Given the description of an element on the screen output the (x, y) to click on. 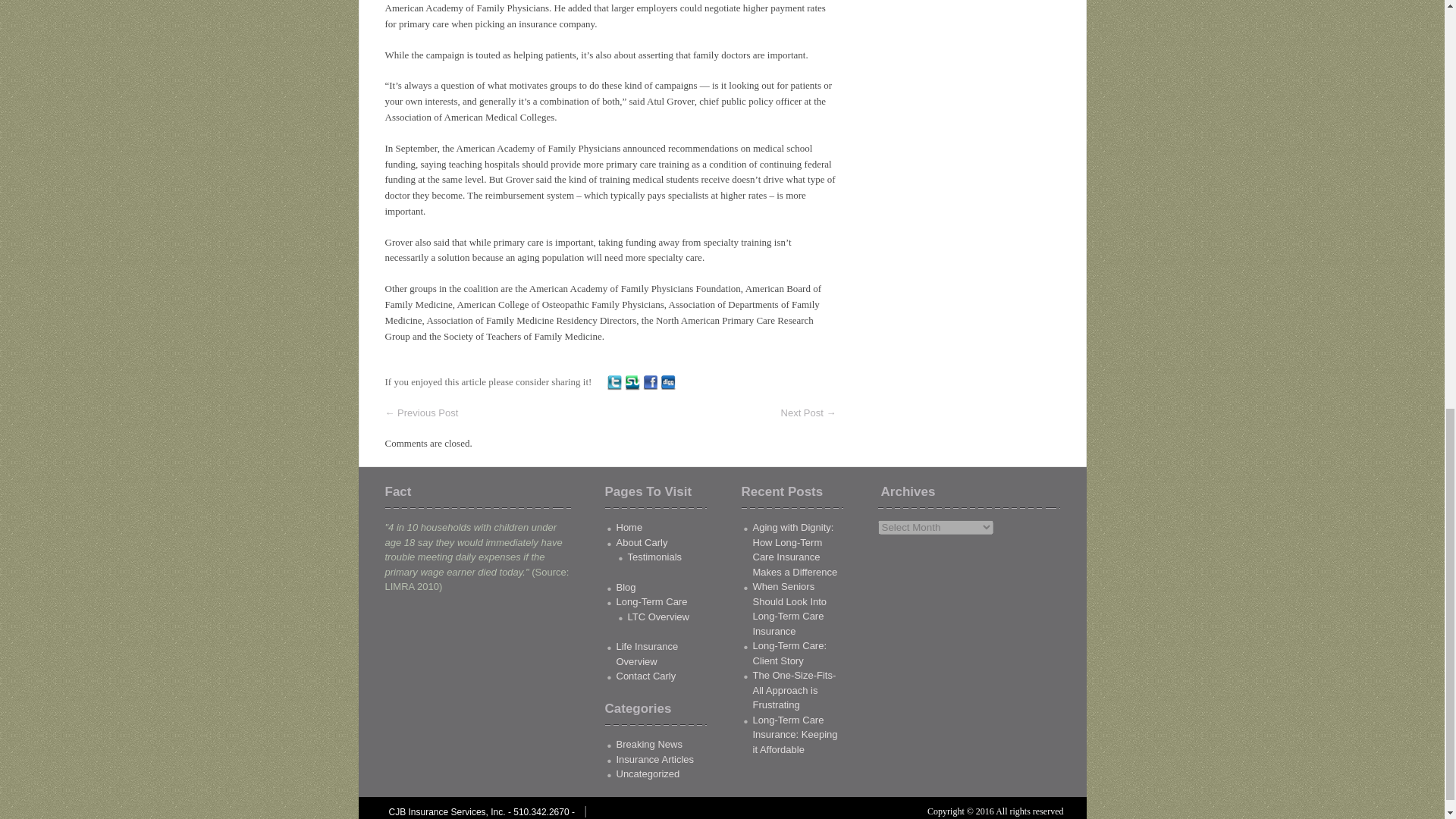
Long-Term Care (651, 601)
Digg This! (668, 381)
digg (668, 382)
Testimonials (654, 556)
Tweet this! (614, 381)
Share on StumbleUpon! (632, 381)
facebook (650, 382)
Uncategorized (647, 773)
Share on Facebook (650, 381)
twitter (614, 382)
Blog (624, 586)
Insurance Articles (654, 758)
Life Insurance Overview (646, 653)
About Carly (640, 542)
upon (632, 382)
